Given the description of an element on the screen output the (x, y) to click on. 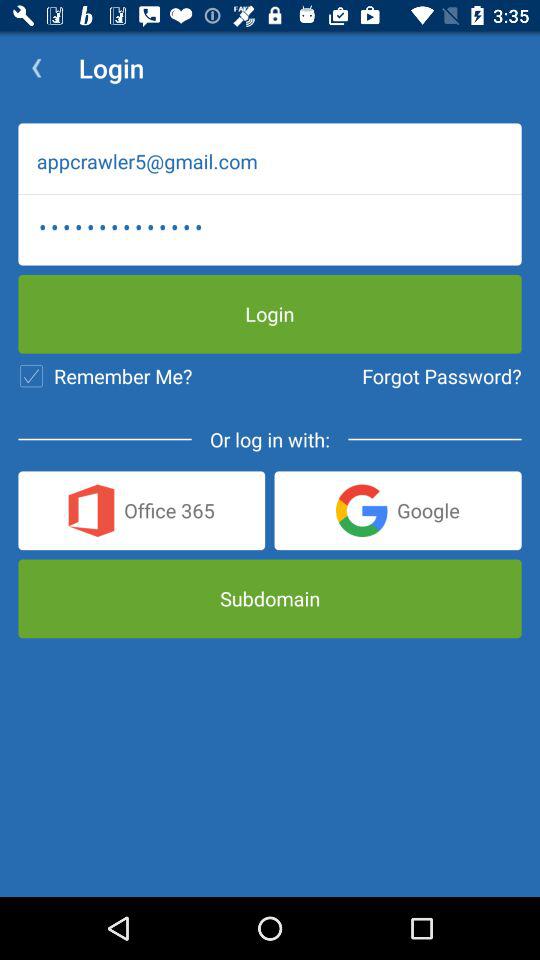
swipe until the forgot password? item (441, 376)
